Given the description of an element on the screen output the (x, y) to click on. 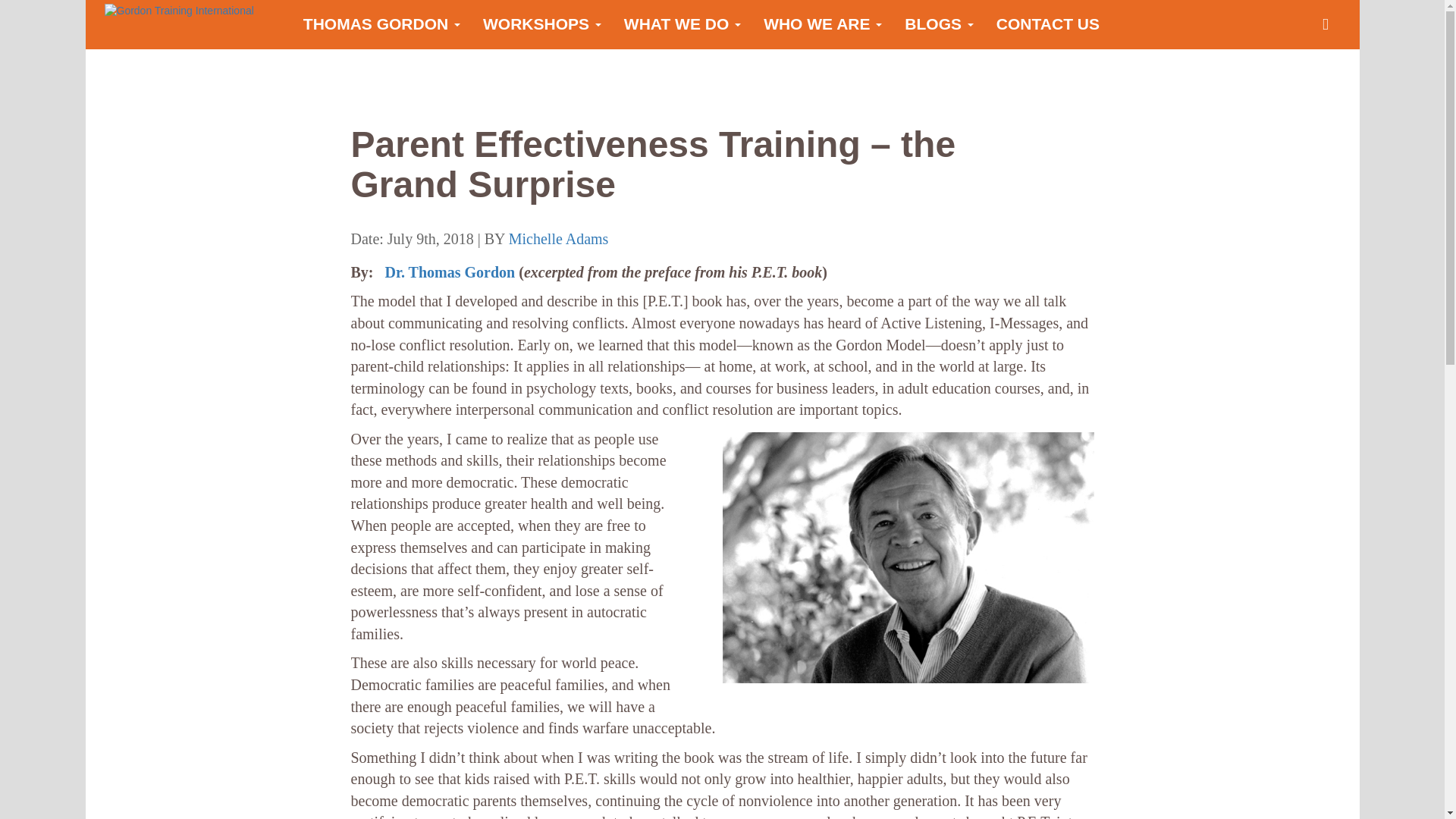
Dr. Thomas Gordon (450, 271)
WORKSHOPS (541, 24)
Who We Are (822, 24)
THOMAS GORDON (381, 24)
CONTACT US (1047, 24)
BLOGS (939, 24)
Michelle Adams (558, 238)
What We Do (682, 24)
Workshops (541, 24)
Thomas Gordon (381, 24)
WHO WE ARE (822, 24)
WHAT WE DO (682, 24)
